Given the description of an element on the screen output the (x, y) to click on. 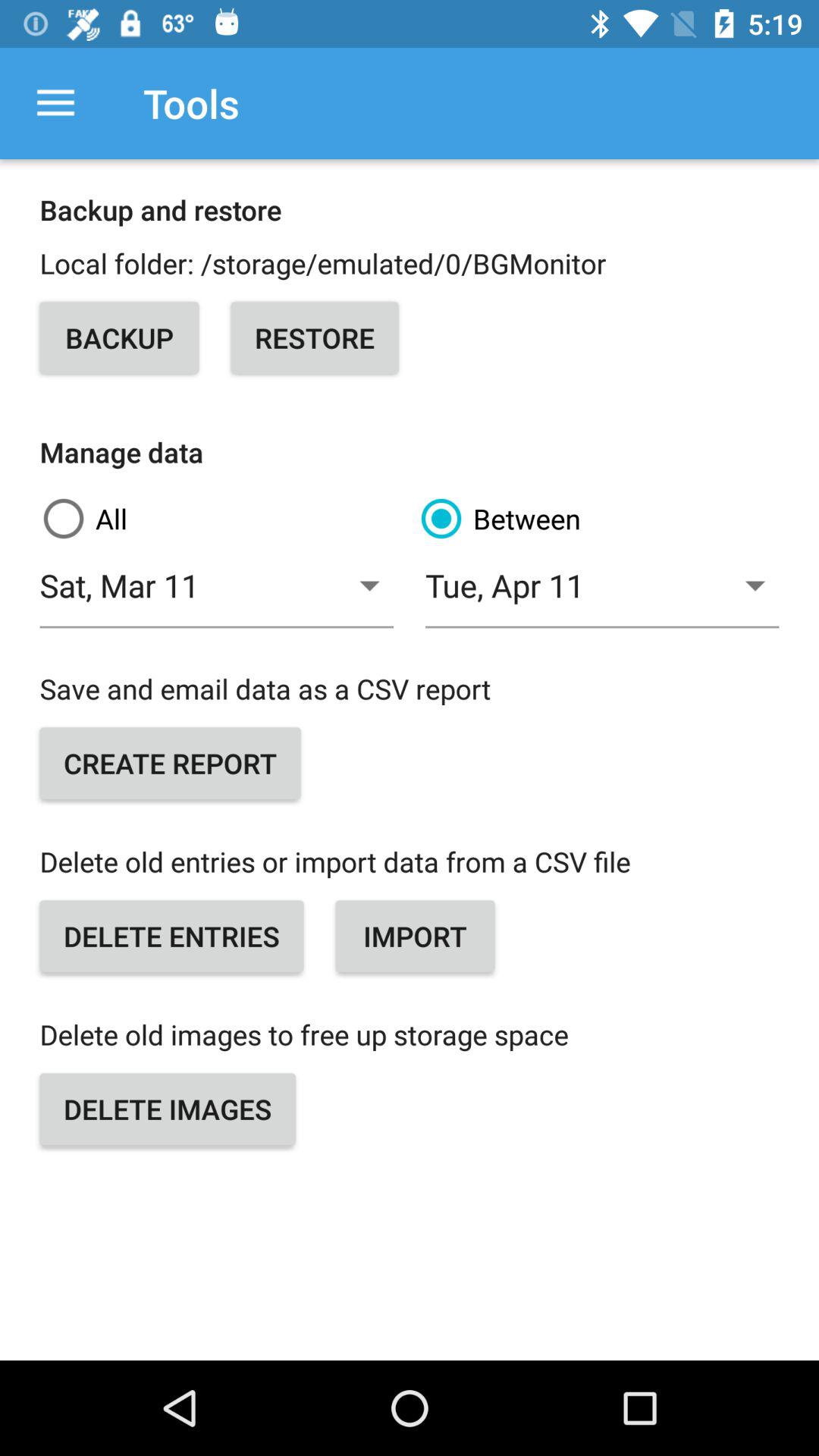
choose icon above the save and email icon (216, 594)
